Given the description of an element on the screen output the (x, y) to click on. 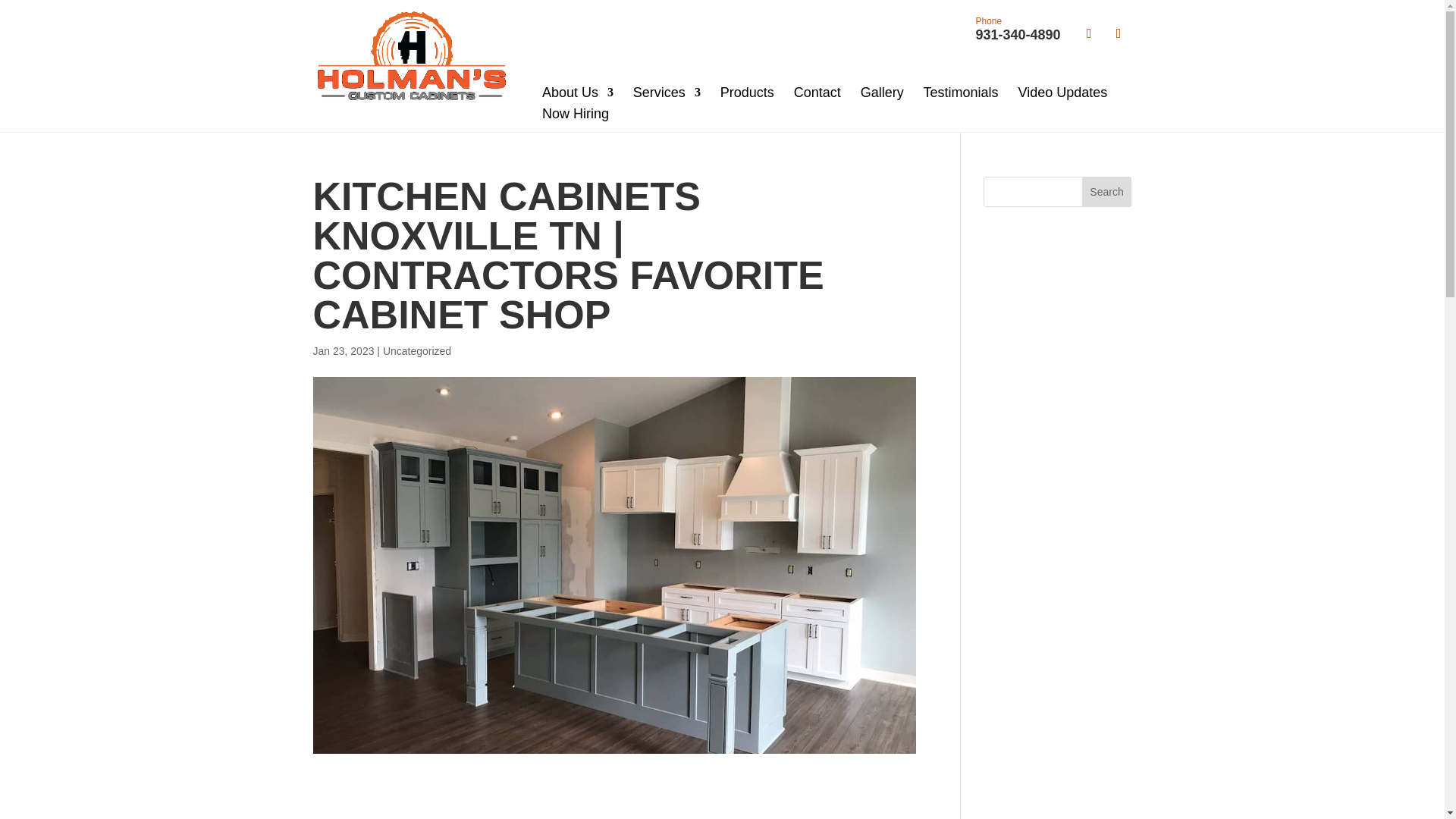
Gallery (882, 91)
Search (1106, 191)
Video Updates (1017, 29)
Testimonials (1061, 91)
Services (960, 91)
About Us (666, 91)
Contact (576, 91)
Products (817, 91)
Now Hiring (747, 91)
